Given the description of an element on the screen output the (x, y) to click on. 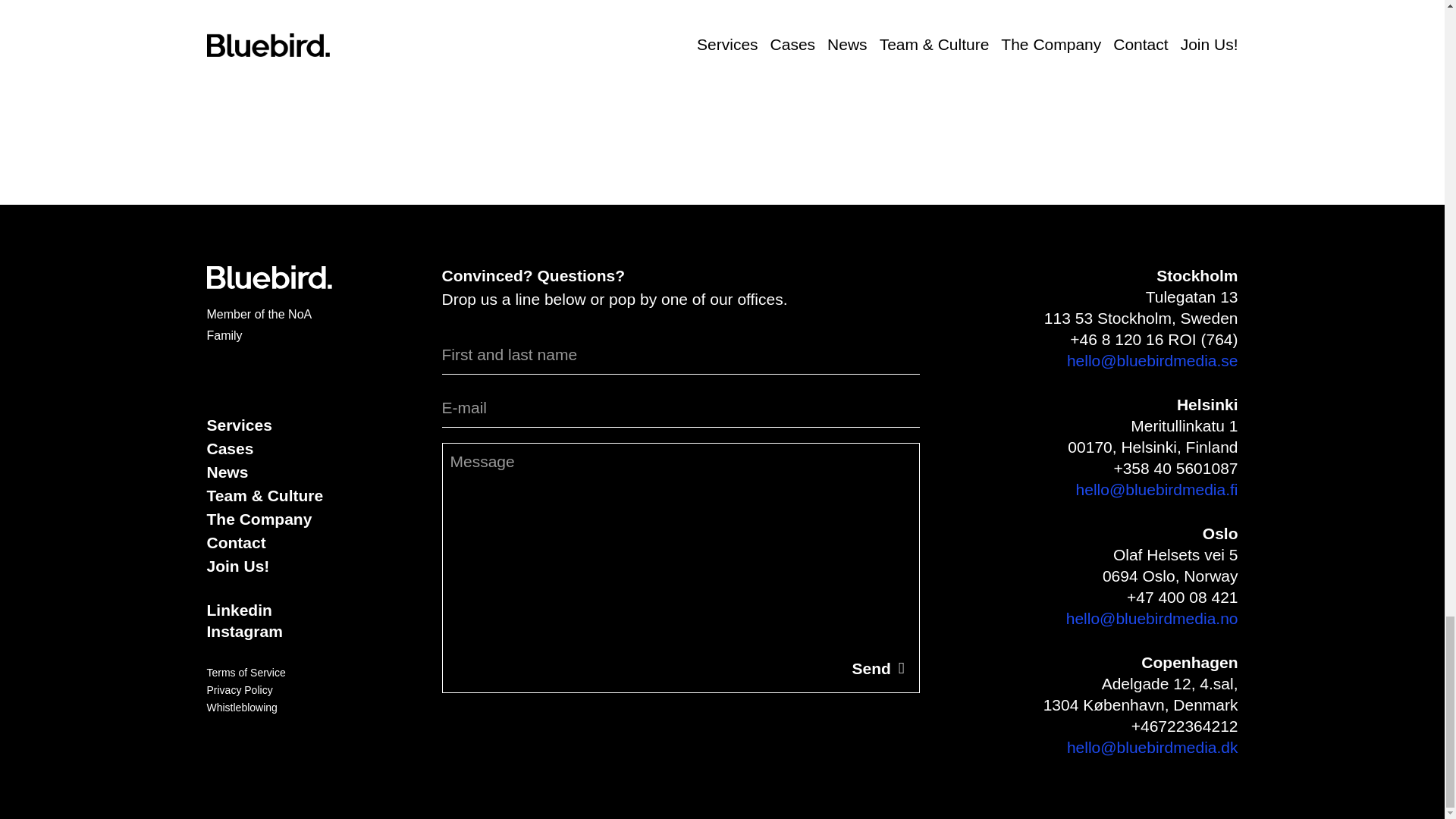
News (226, 472)
Whistleblowing (241, 707)
Instagram (244, 630)
Terms of Service (245, 672)
Services (238, 424)
The Company (258, 518)
Join Us! (237, 566)
Linkedin (238, 610)
Member of the NoA Family (258, 324)
Send (876, 668)
